Given the description of an element on the screen output the (x, y) to click on. 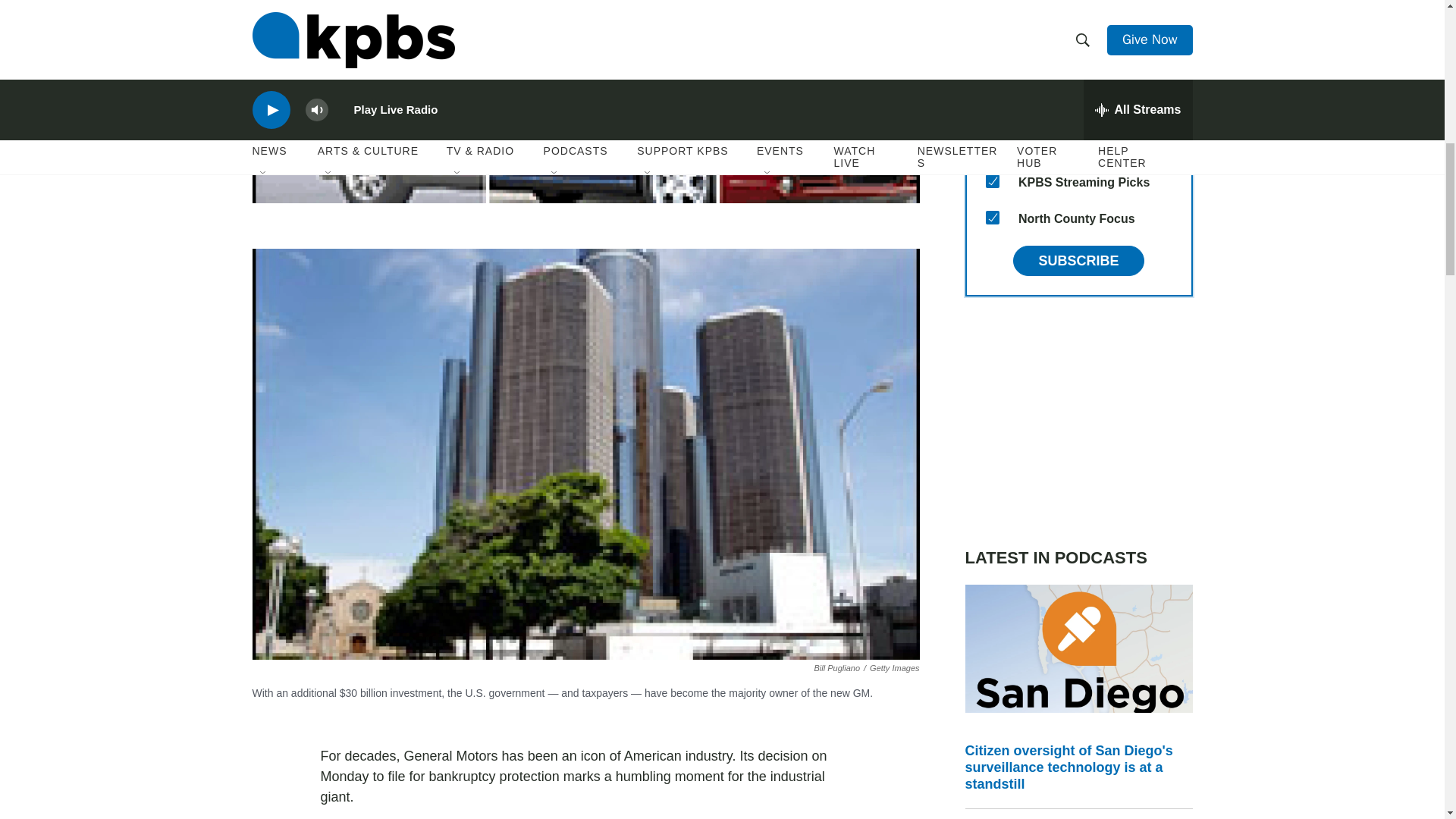
3rd party ad content (1077, 421)
2 (991, 108)
6 (991, 71)
1 (991, 144)
15 (991, 217)
8 (991, 181)
4 (991, 2)
5 (991, 35)
